Given the description of an element on the screen output the (x, y) to click on. 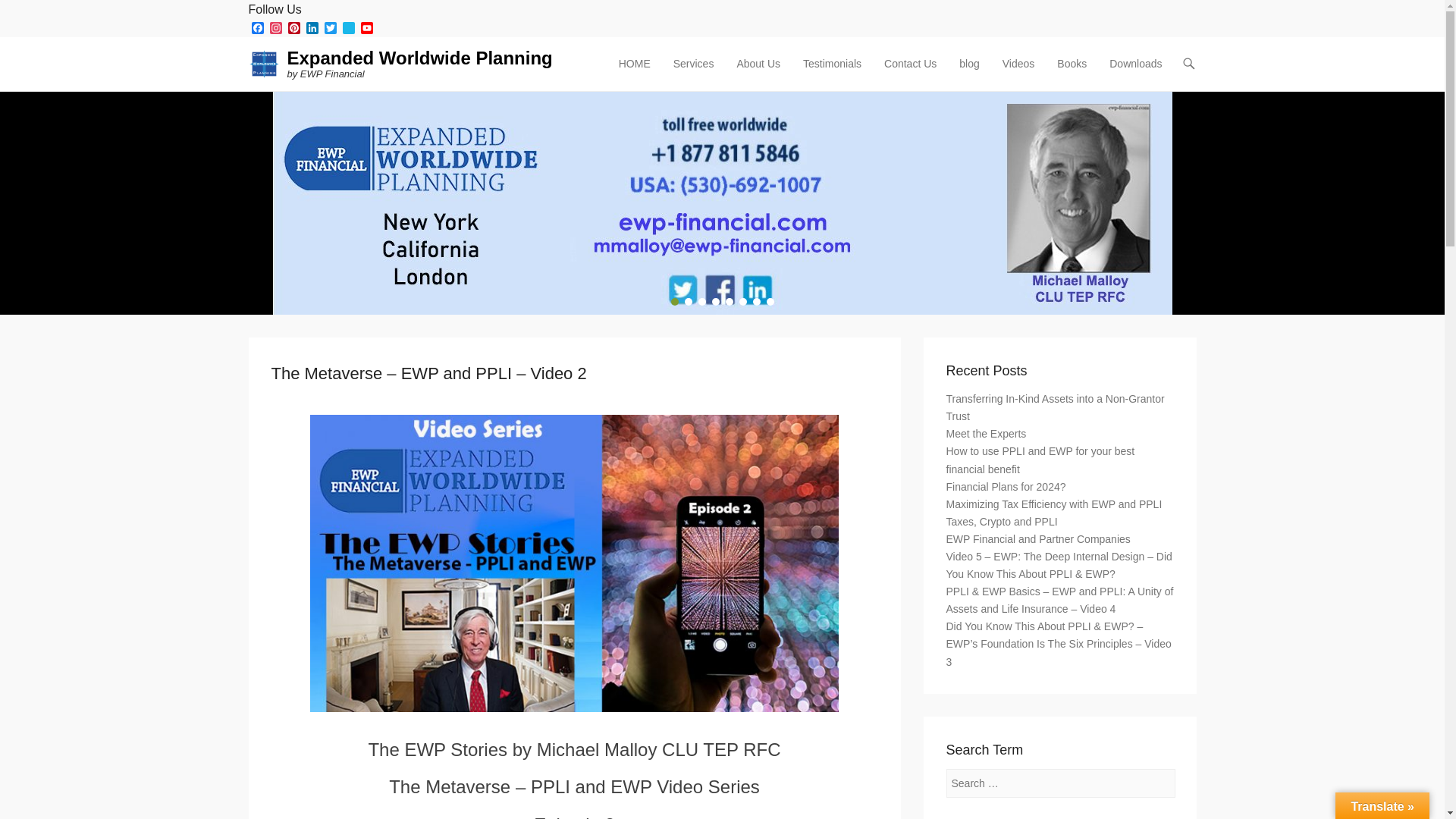
YouTube Channel (366, 29)
Instagram (275, 29)
Testimonials (831, 73)
Vimeo (348, 29)
Skip to content (646, 64)
Videos (1018, 73)
5 (728, 301)
About Us (758, 73)
6 (741, 301)
blog (969, 73)
Facebook (257, 29)
Skip to content (646, 64)
Instagram (275, 29)
YouTube Channel (366, 29)
Pinterest (293, 29)
